Given the description of an element on the screen output the (x, y) to click on. 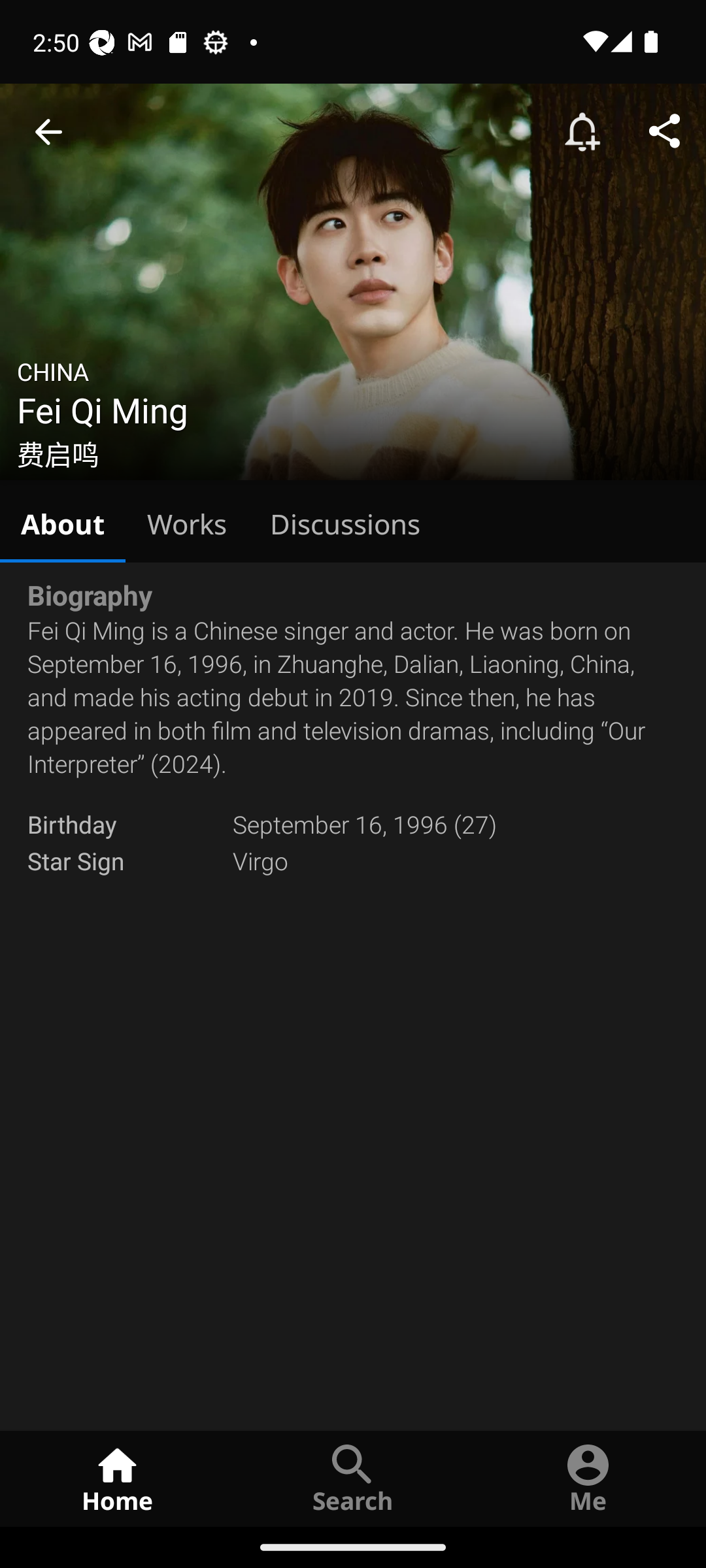
Follow (582, 131)
Share (664, 131)
Works (187, 520)
Discussions (345, 520)
Search (352, 1478)
Me (588, 1478)
